Given the description of an element on the screen output the (x, y) to click on. 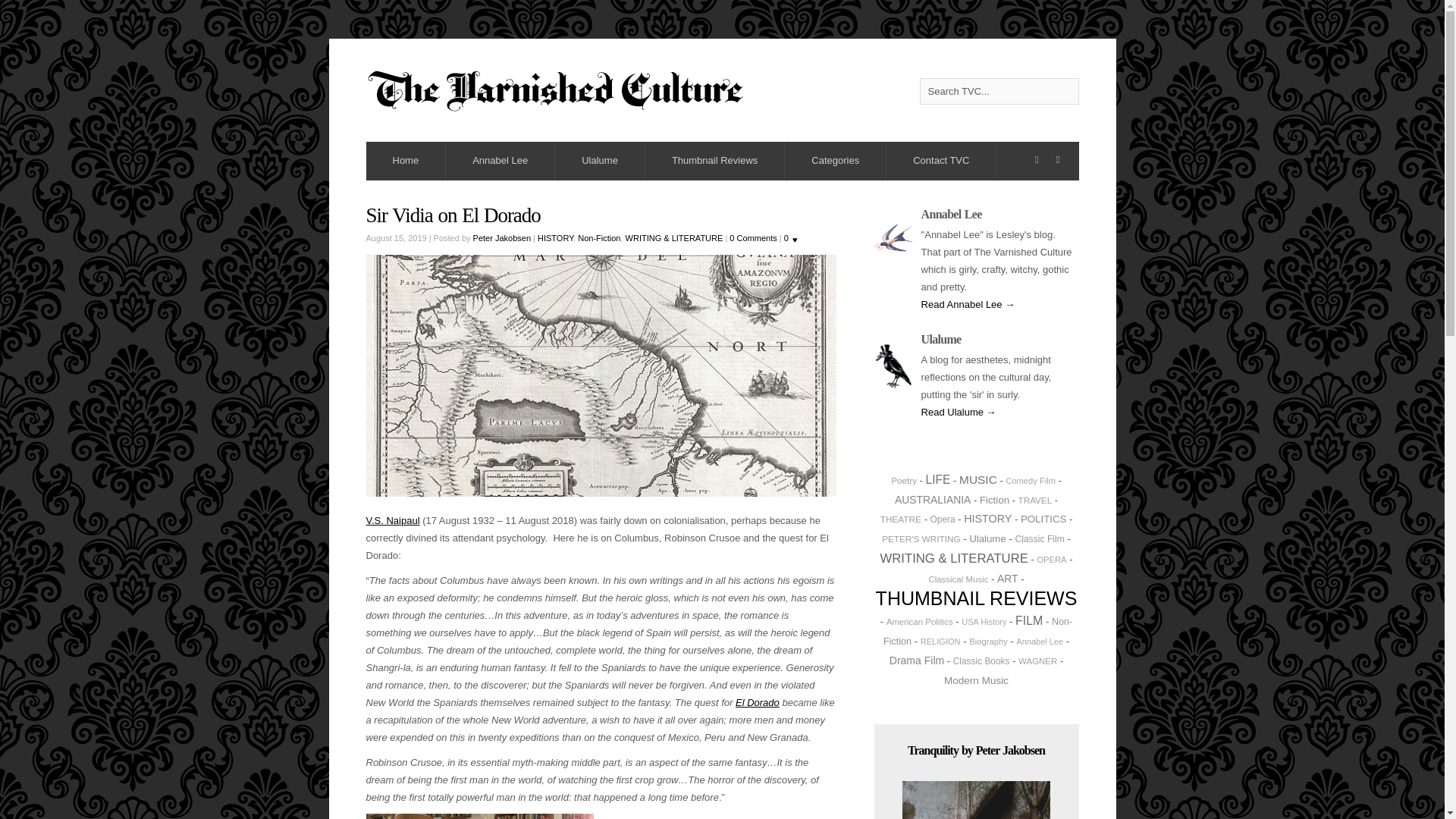
77 posts (1034, 500)
Home (405, 160)
275 posts (978, 479)
81 posts (920, 538)
Contact TVC (940, 160)
161 posts (994, 500)
0 (793, 238)
HISTORY (555, 237)
Non-Fiction (599, 237)
Categories (835, 160)
